Given the description of an element on the screen output the (x, y) to click on. 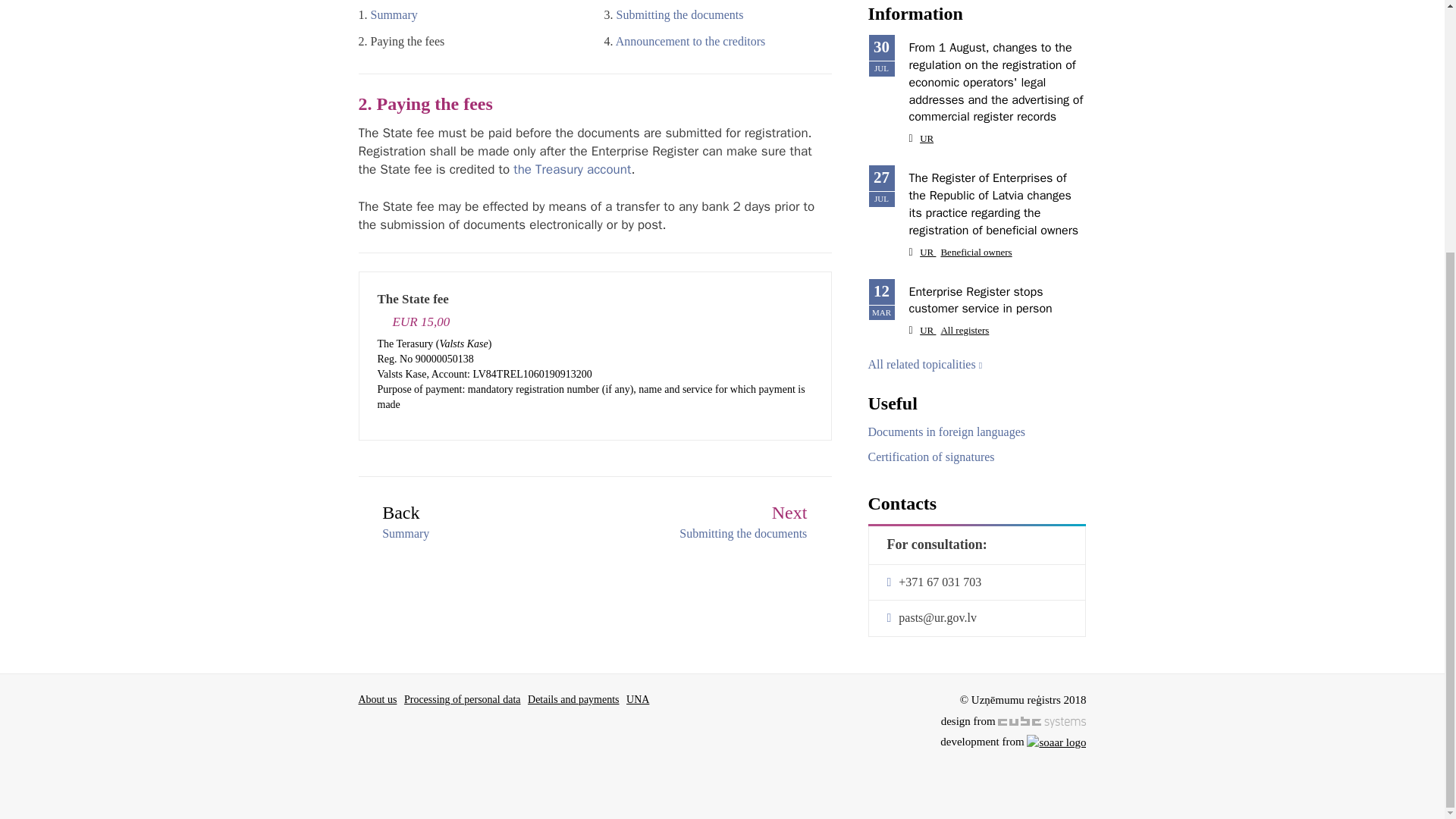
UR (928, 329)
Documents in foreign languages (946, 431)
UR (926, 138)
Enterprise Register stops customer service in person (979, 300)
Beneficial owners (975, 251)
UR (928, 251)
the Treasury account (571, 169)
3. Submitting the documents (721, 525)
